Given the description of an element on the screen output the (x, y) to click on. 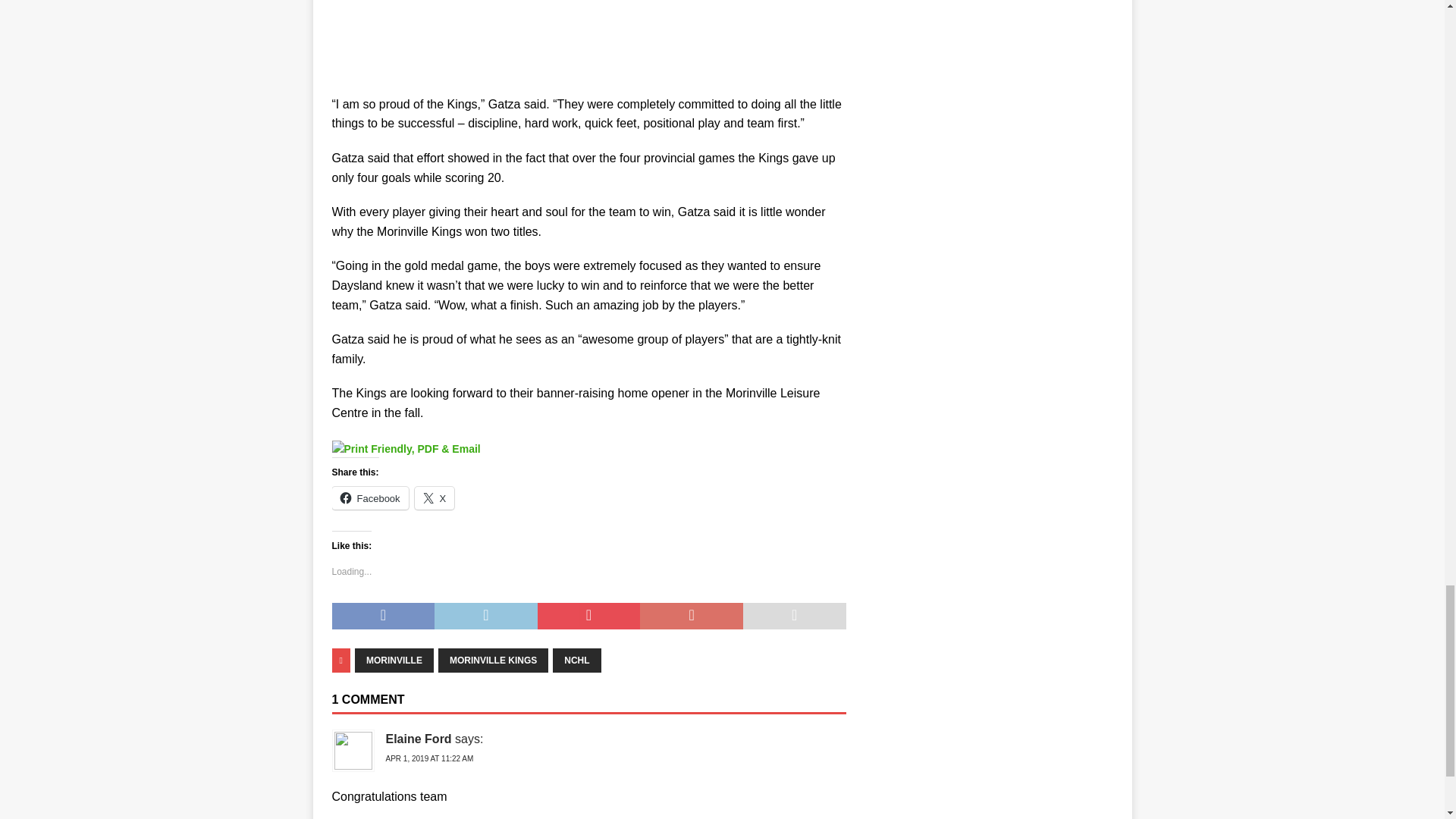
Click to share on X (434, 497)
Click to share on Facebook (370, 497)
